Given the description of an element on the screen output the (x, y) to click on. 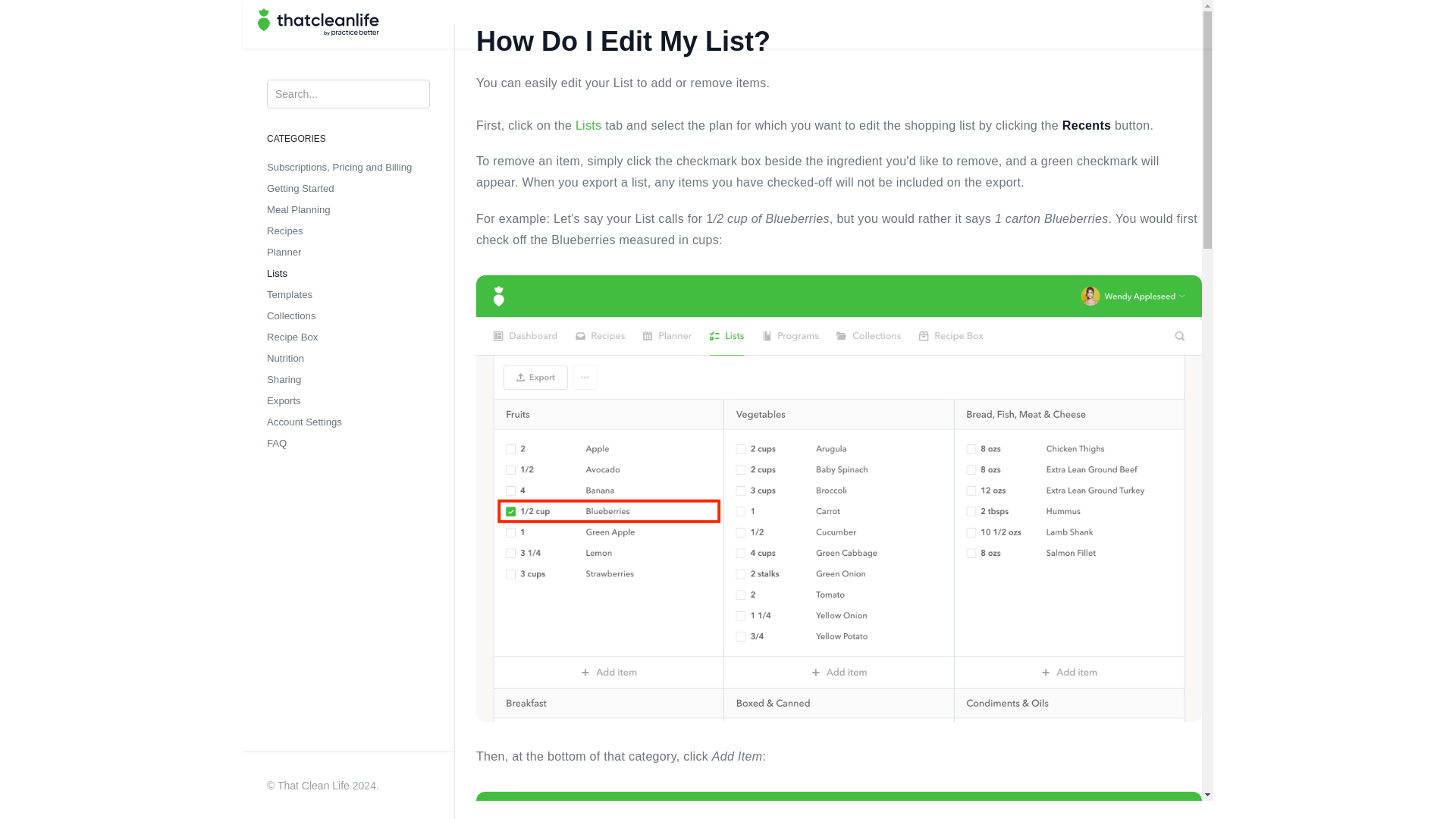
Exports (283, 400)
Lists (276, 273)
FAQ (276, 443)
Lists (588, 124)
Getting Started (300, 188)
Sharing (283, 379)
Subscriptions, Pricing and Billing (339, 167)
Account Settings (304, 421)
Templates (289, 294)
Collections (290, 315)
Meal Planning (298, 209)
Nutrition (285, 358)
Recipe Box (291, 337)
Planner (283, 252)
search-query (347, 93)
